Given the description of an element on the screen output the (x, y) to click on. 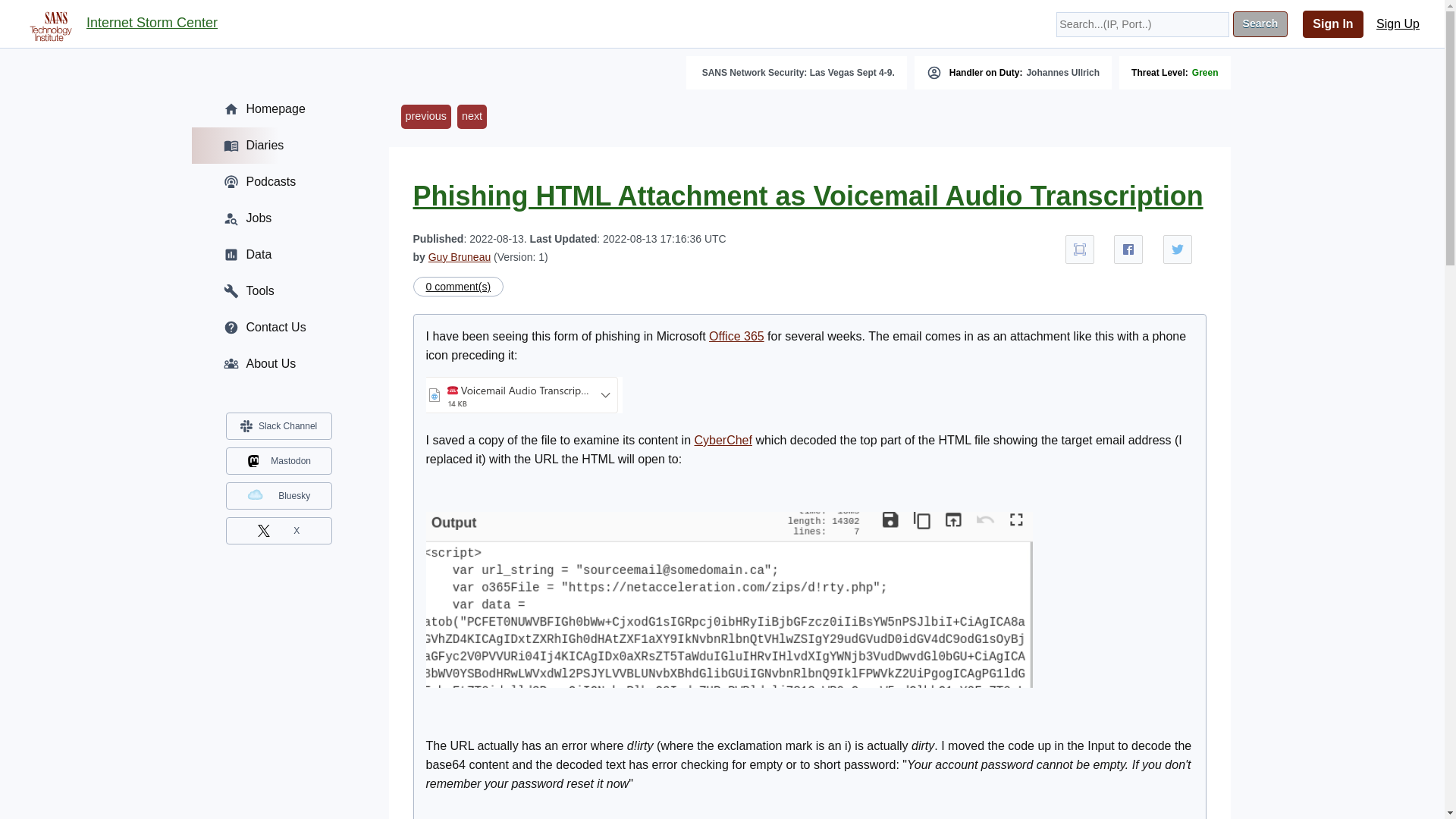
Phishing HTML Attachment as Voicemail Audio Transcription (807, 195)
Share on Twitter (1177, 249)
Share on Facebook (1127, 249)
Data (277, 254)
Jobs (277, 217)
Search (1260, 23)
Full Screen (1079, 249)
Sign In (1332, 24)
Sign Up (1398, 24)
Guy Bruneau (460, 256)
